Given the description of an element on the screen output the (x, y) to click on. 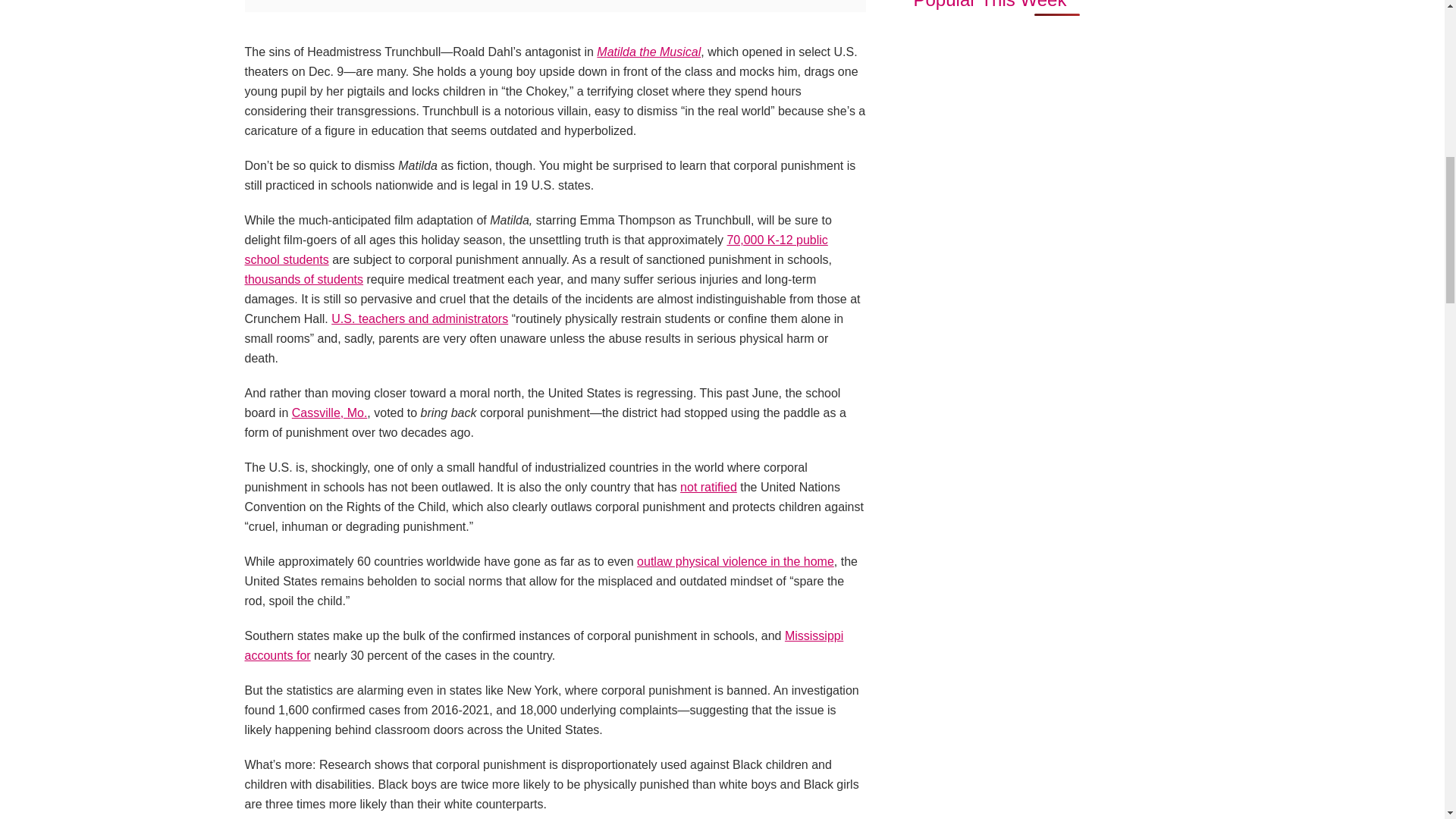
Matilda the Musical (648, 51)
thousands of students (303, 278)
Mississippi accounts for (543, 645)
not ratified (707, 486)
70,000 K-12 public school students (535, 249)
outlaw physical violence in the home (735, 561)
Cassville, Mo. (330, 412)
U.S. teachers and administrators (419, 318)
